Given the description of an element on the screen output the (x, y) to click on. 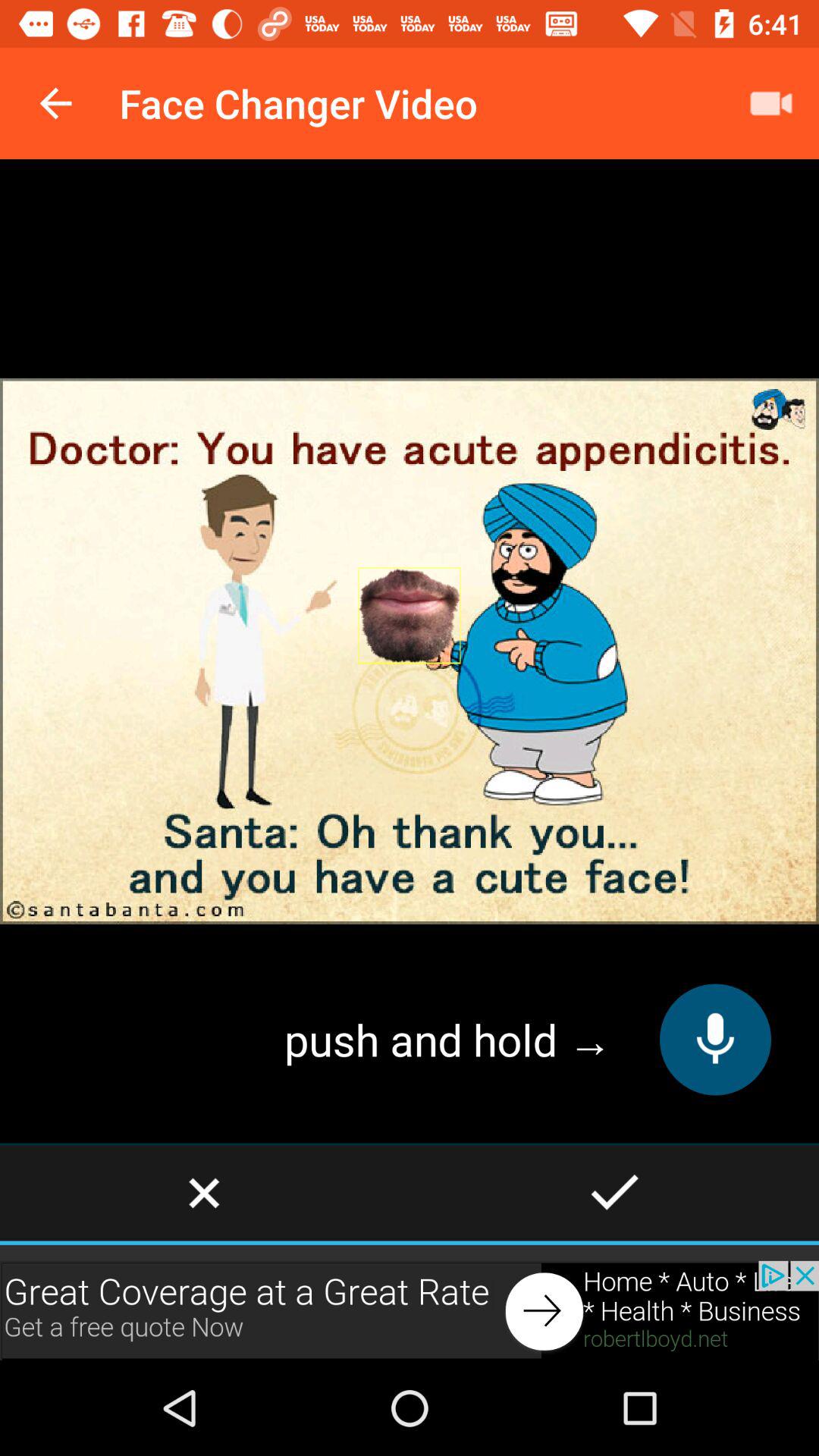
shows the advertisement tab (409, 1310)
